Given the description of an element on the screen output the (x, y) to click on. 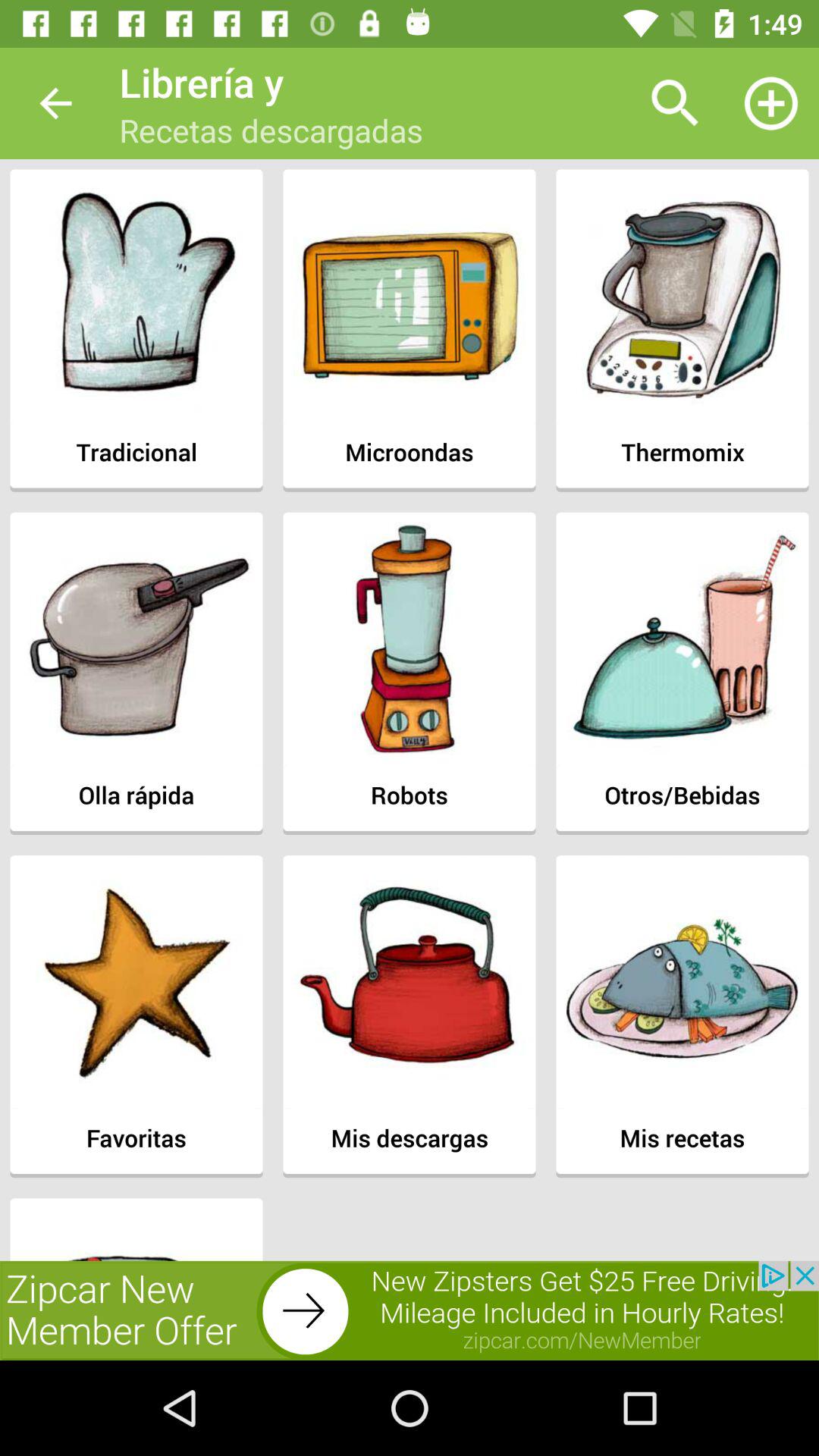
advertisement (409, 1310)
